Given the description of an element on the screen output the (x, y) to click on. 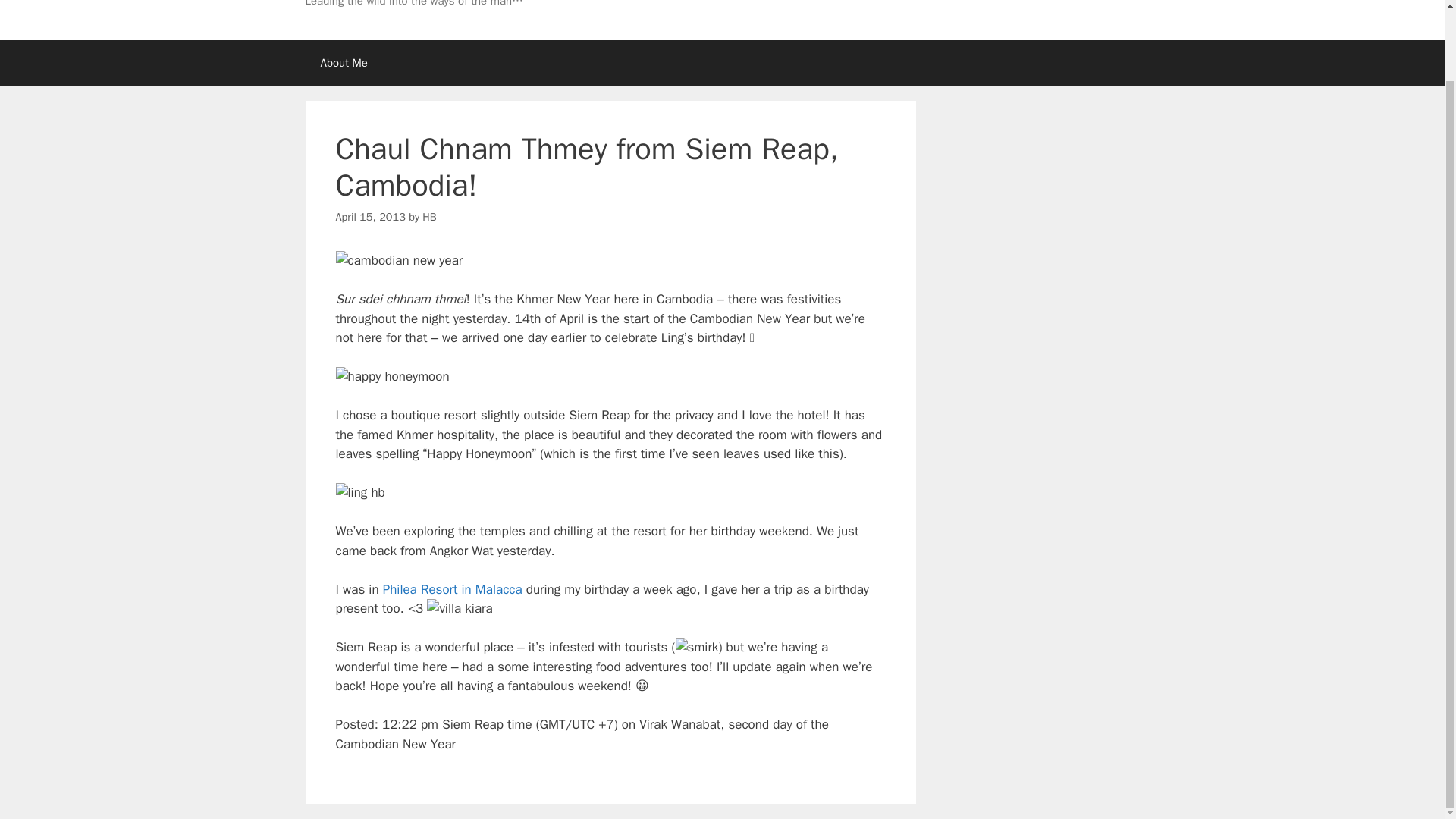
HB (428, 216)
Philea Resort in Malacca (452, 589)
cambodian new year (398, 260)
About Me (342, 62)
April 15, 2013 (369, 216)
ling hb (359, 492)
1:22 pm (369, 216)
smirk (697, 647)
View all posts by HB (428, 216)
villa kiara (459, 608)
